Given the description of an element on the screen output the (x, y) to click on. 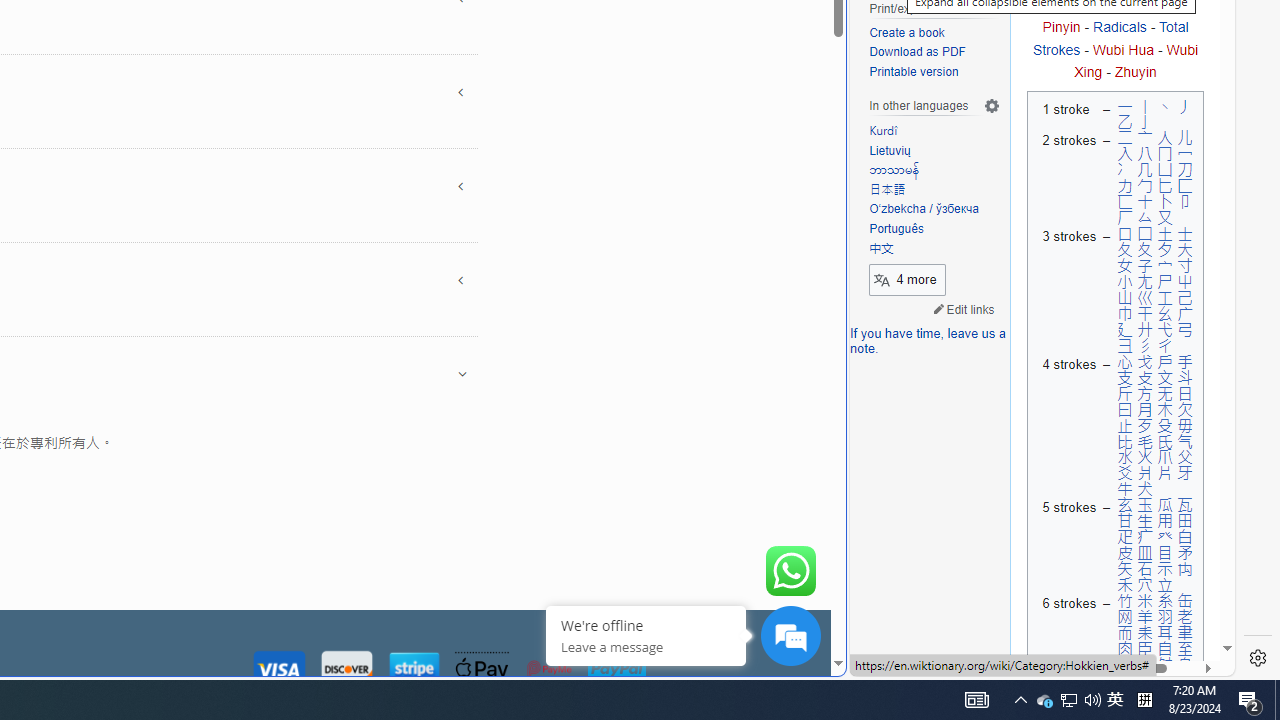
Create a book (906, 32)
2 strokes (1065, 178)
4 more (907, 278)
